Given the description of an element on the screen output the (x, y) to click on. 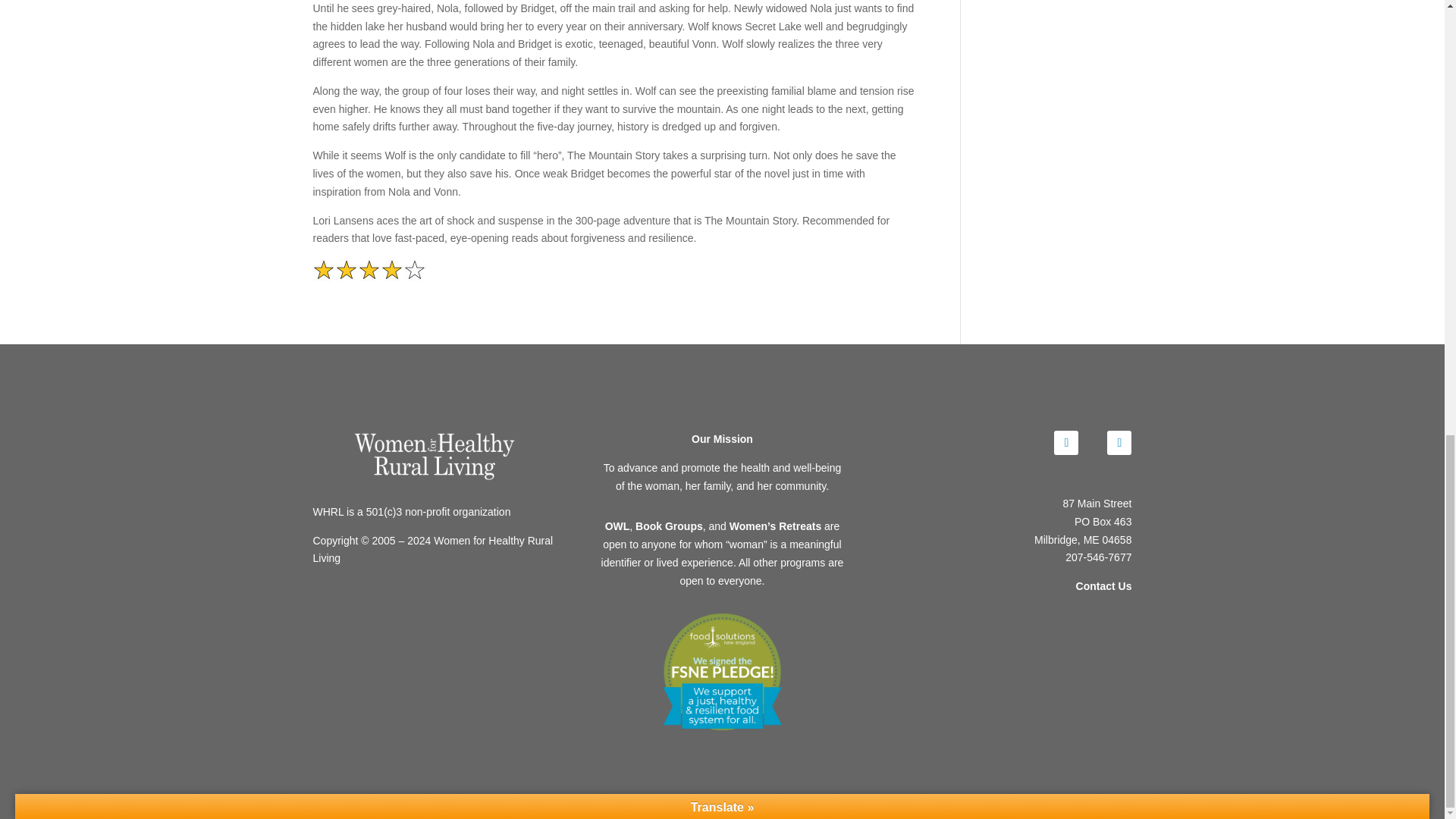
Women for Healthy Rural Living (434, 455)
Follow on Facebook (1066, 442)
Follow on Instagram (1118, 442)
